Given the description of an element on the screen output the (x, y) to click on. 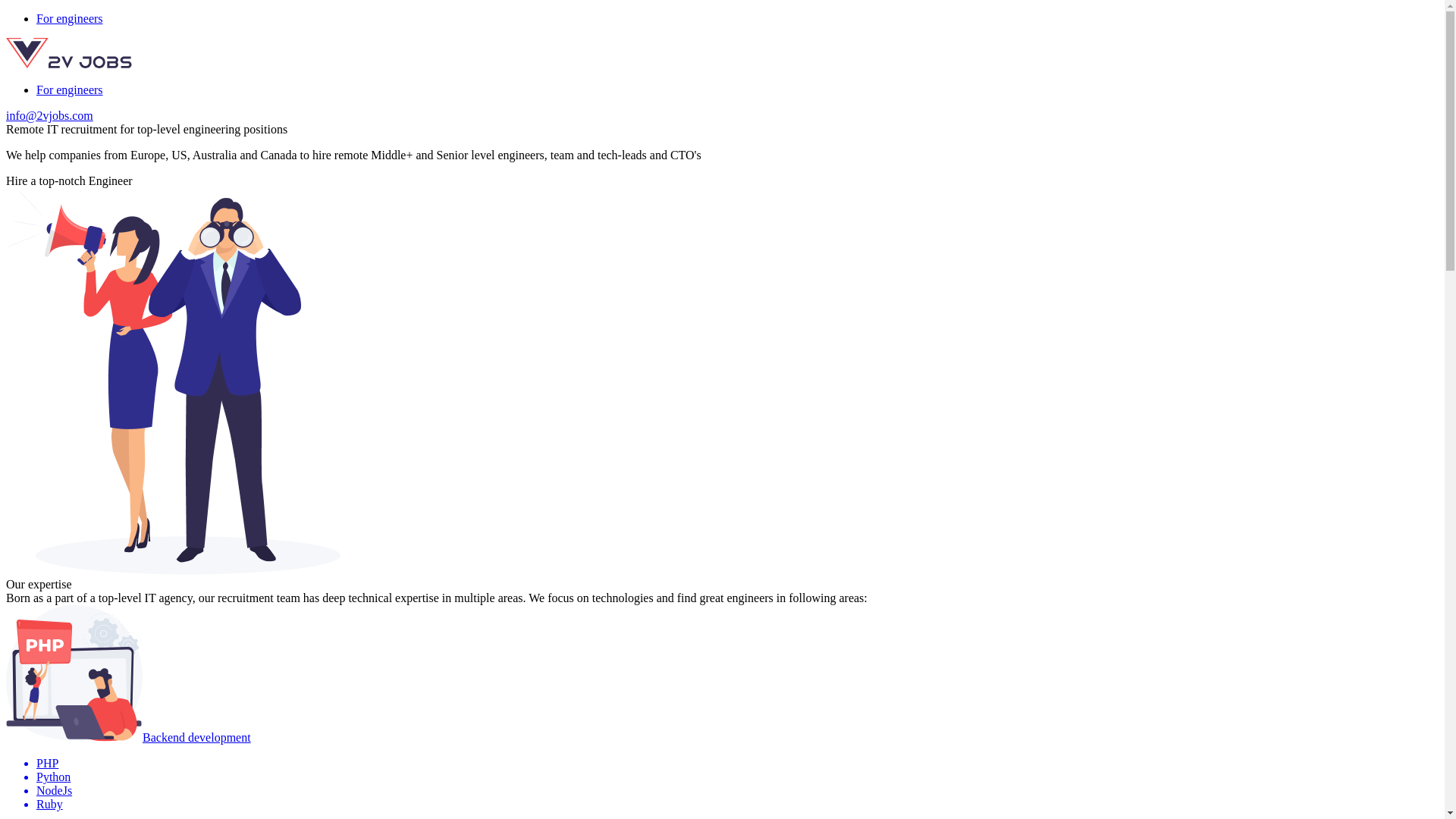
info@2vjobs.com Element type: text (49, 115)
For engineers Element type: text (69, 18)
For engineers Element type: text (69, 89)
